Given the description of an element on the screen output the (x, y) to click on. 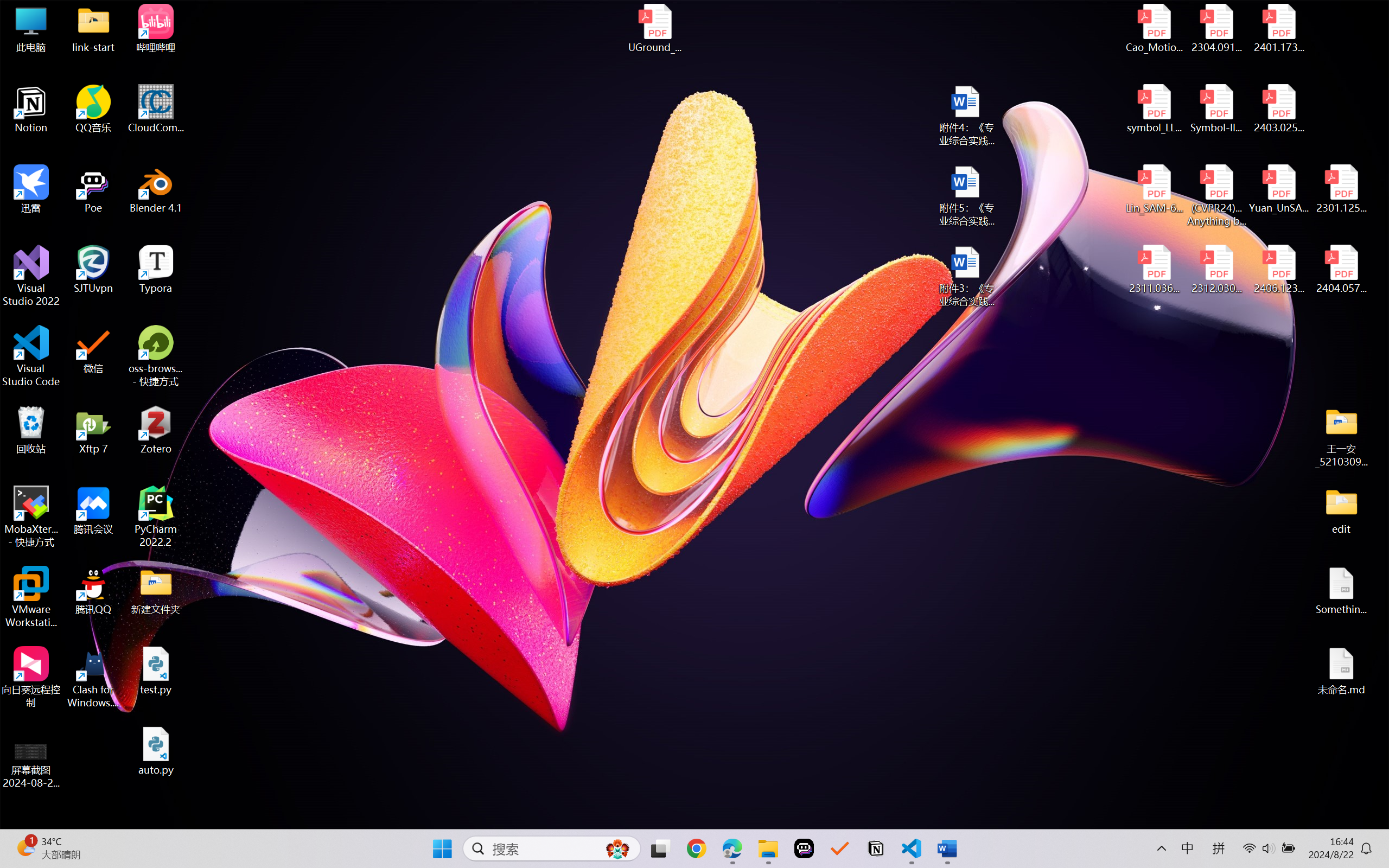
symbol_LLM.pdf (1154, 109)
(CVPR24)Matching Anything by Segmenting Anything.pdf (1216, 195)
VMware Workstation Pro (31, 597)
2301.12597v3.pdf (1340, 189)
